Given the description of an element on the screen output the (x, y) to click on. 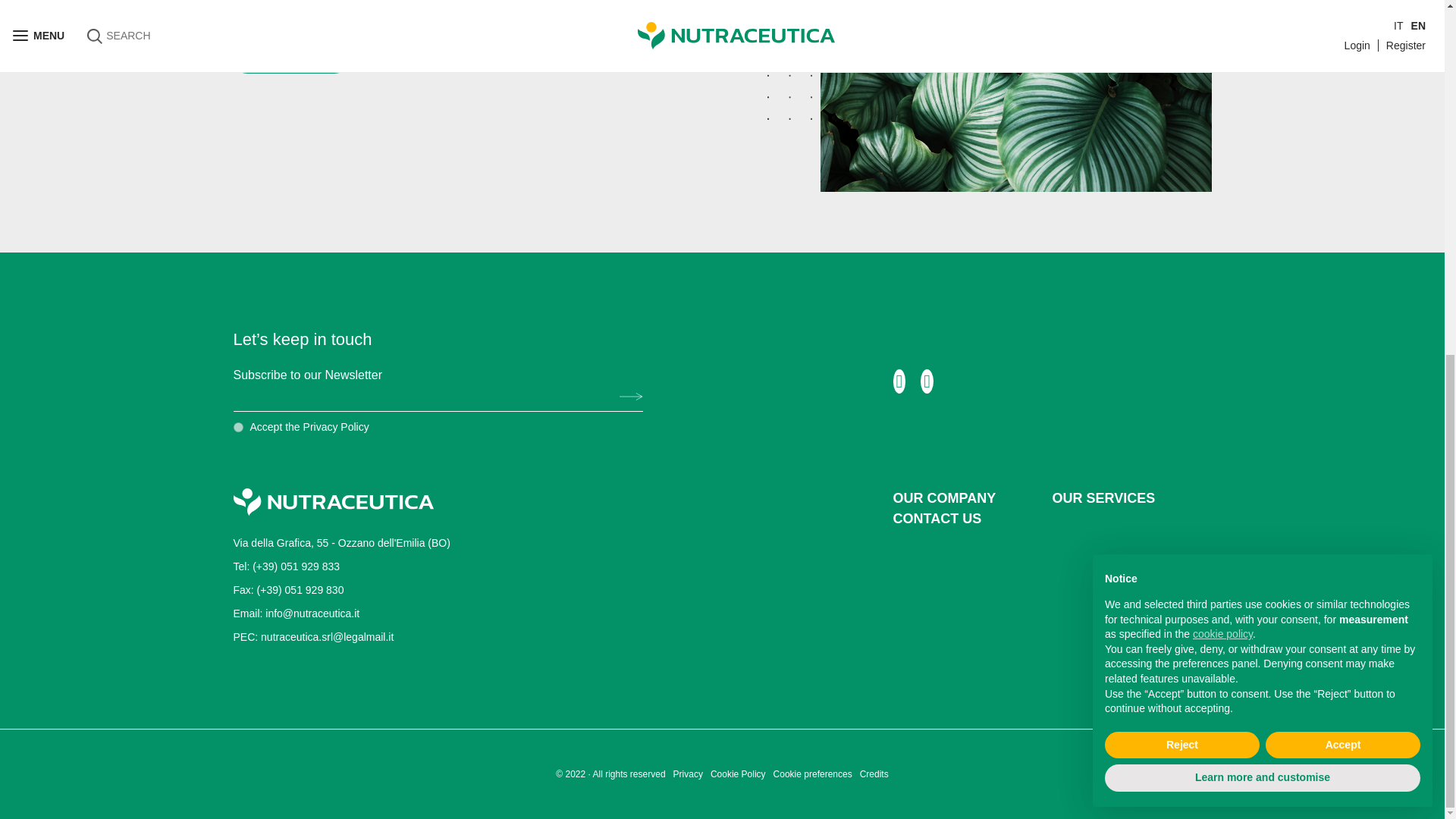
Cookie Policy  (737, 773)
PRODUCTS (290, 60)
OUR COMPANY (972, 497)
Privacy Policy  (687, 773)
cookie policy (1222, 12)
Accetto la Privacy Policy (237, 427)
Privacy (687, 773)
Cookie preferences (812, 773)
CONTACT US (972, 518)
Privacy Policy (335, 426)
OUR SERVICES (1131, 497)
Privacy Policy  (335, 426)
Learn more and customise (1263, 156)
